Given the description of an element on the screen output the (x, y) to click on. 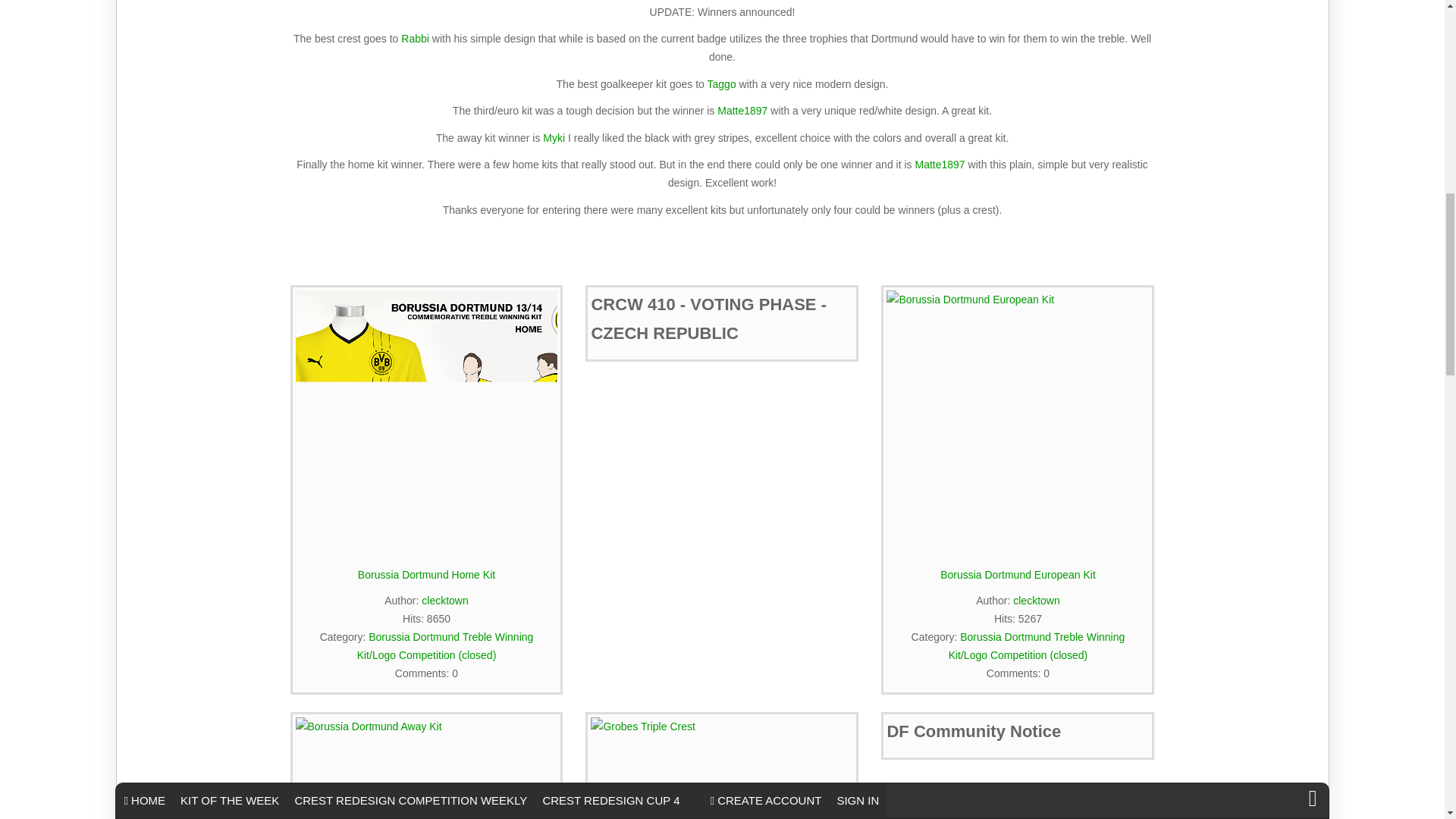
Grobes Triple Crest  (722, 768)
Matte1897 (938, 164)
Borussia Dortmund Away Kit (426, 768)
Borussia Dortmund Home Kit (426, 421)
Borussia Dortmund European Kit (1017, 421)
Taggo (721, 82)
Matte1897 (742, 110)
Myki (553, 137)
clecktown (444, 600)
Rabbi (415, 38)
clecktown (1036, 600)
